Given the description of an element on the screen output the (x, y) to click on. 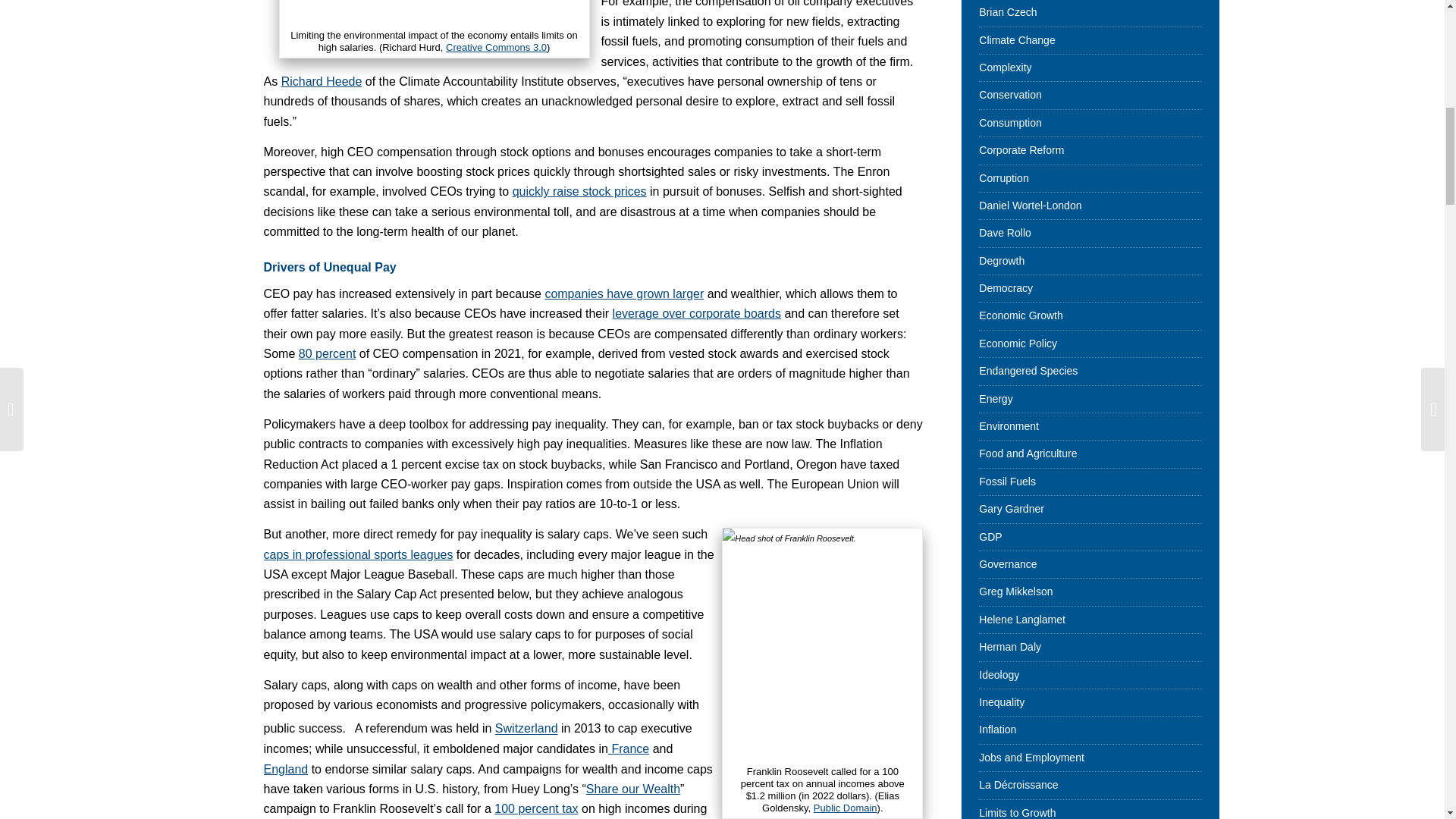
Switzerland (526, 728)
leverage over corporate boards (696, 313)
England (285, 768)
companies have grown larger (623, 293)
Creative Commons 3.0 (496, 47)
quickly raise stock prices (579, 191)
Share our Wealth (632, 788)
Richard Heede (321, 81)
France (628, 748)
Public Domain (845, 808)
